Given the description of an element on the screen output the (x, y) to click on. 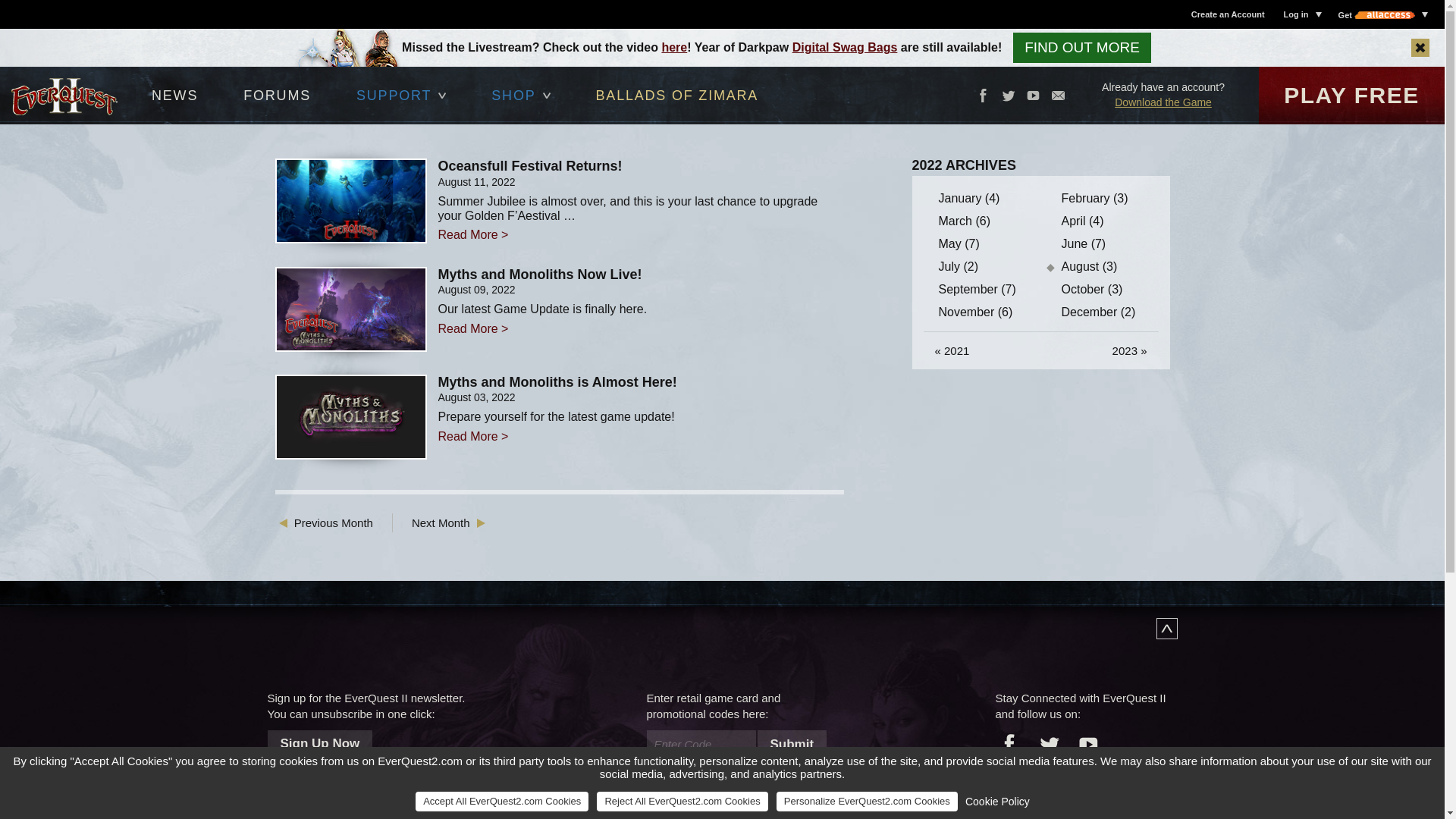
Digital Swag Bags (845, 47)
Get All Access (1381, 14)
FORUMS (277, 95)
Create an Account (1228, 14)
FIND OUT MORE (1082, 47)
SHOP (520, 95)
Myths and Monoliths is Almost Here! (641, 382)
here (674, 47)
Our latest Game Update is finally here. (641, 309)
BALLADS OF ZIMARA (677, 95)
